Given the description of an element on the screen output the (x, y) to click on. 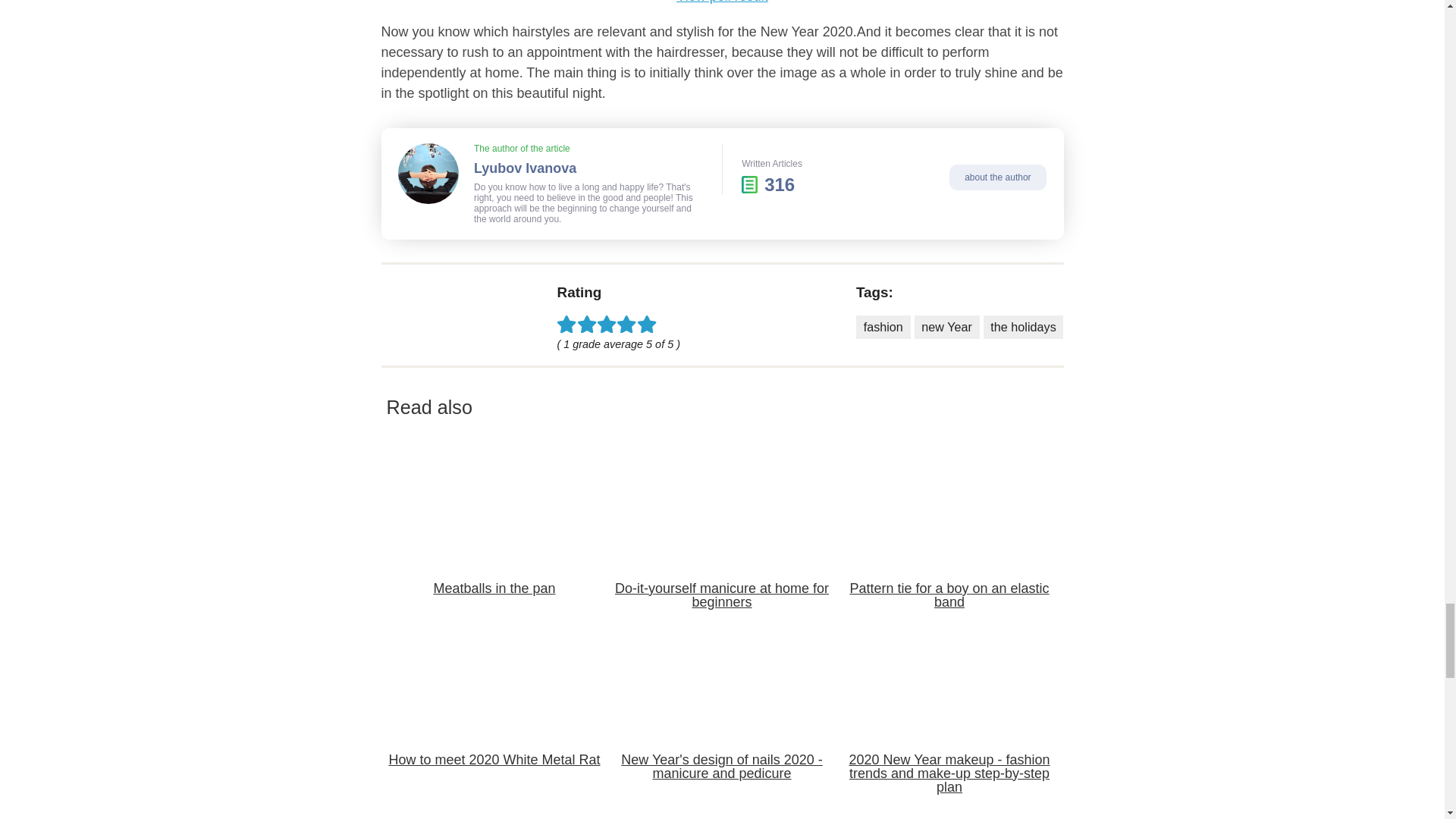
Meatballs in the pan (494, 548)
View Results Of This Poll (722, 2)
about the author (997, 177)
the holidays (1024, 327)
new Year (946, 327)
Do-it-yourself manicure at home for beginners (721, 555)
New Year's design of nails 2020 - manicure and pedicure (721, 726)
View poll result (722, 2)
Pattern tie for a boy on an elastic band (949, 555)
